Given the description of an element on the screen output the (x, y) to click on. 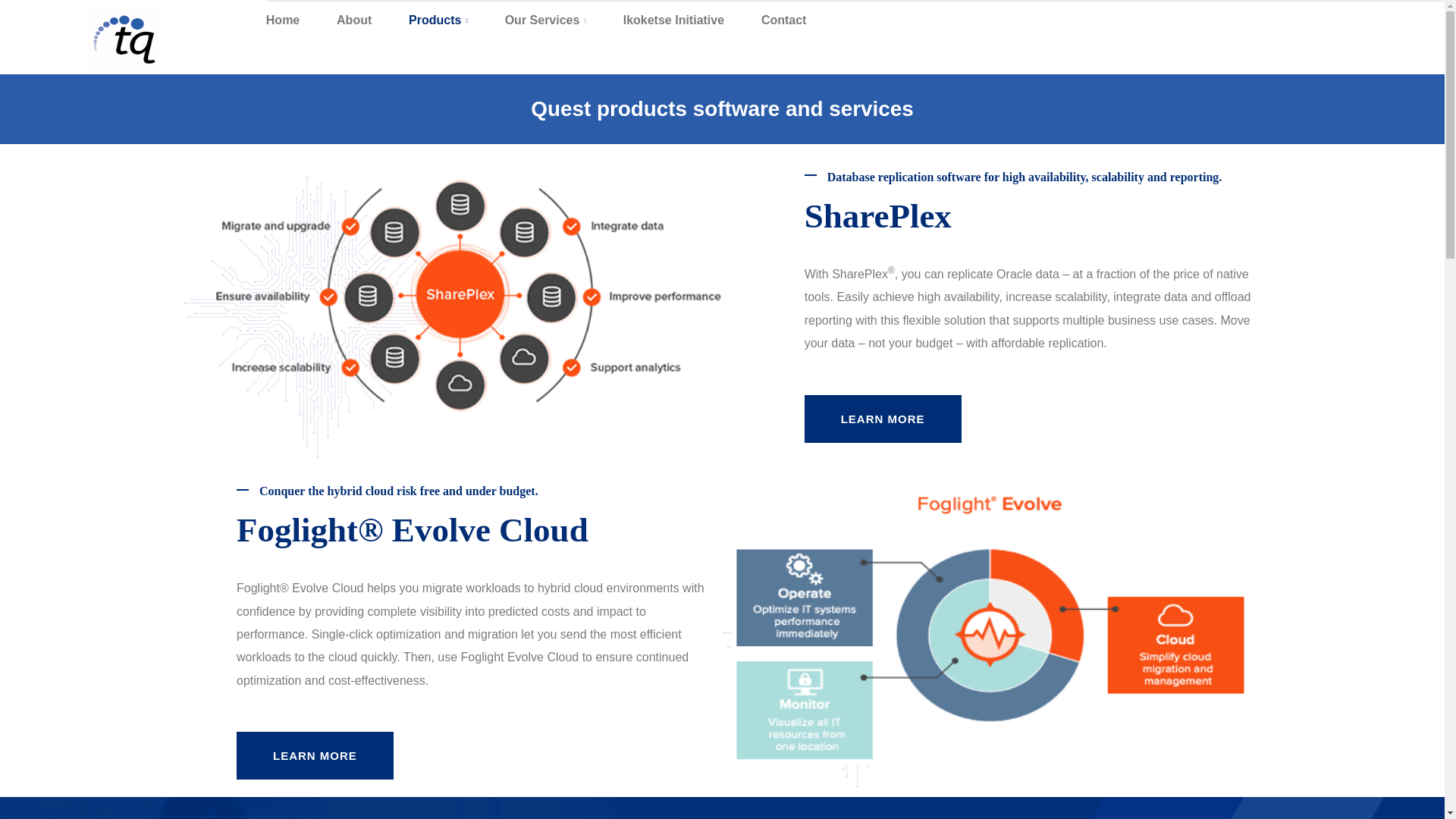
Home (281, 20)
Our Services (544, 20)
Ikoketse Initiative (673, 20)
Products (437, 20)
About (354, 20)
